Given the description of an element on the screen output the (x, y) to click on. 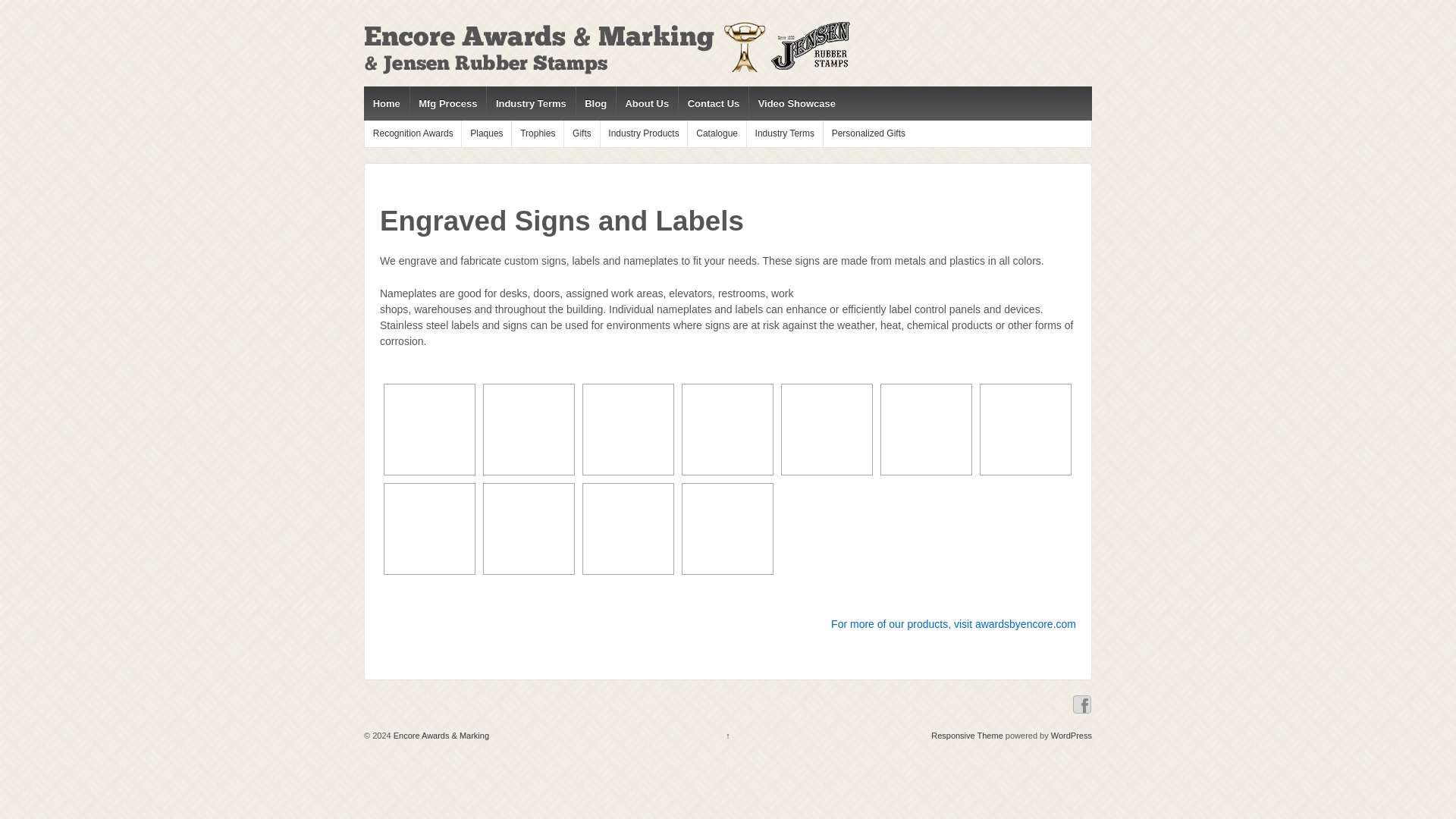
Trophies (537, 133)
part 2 (925, 429)
label 1 (826, 429)
Industry Terms (530, 103)
Video Showcase (796, 103)
Contact Us (713, 103)
Home (386, 103)
part 3 (1025, 429)
Plaques (486, 133)
Mfg Process (447, 103)
